Given the description of an element on the screen output the (x, y) to click on. 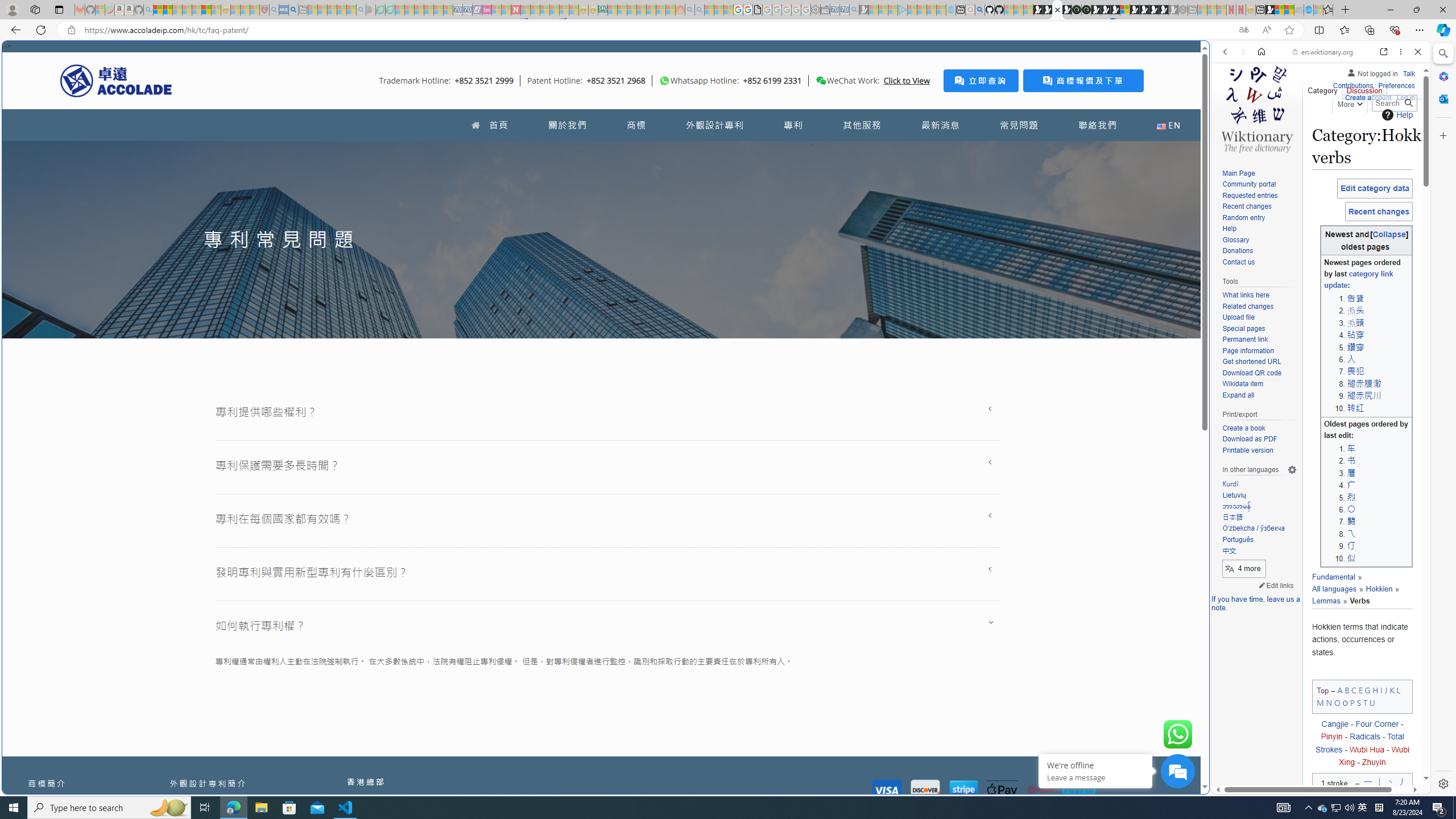
utah sues federal government - Search (922, 389)
Accolade IP HK Logo (116, 80)
